Given the description of an element on the screen output the (x, y) to click on. 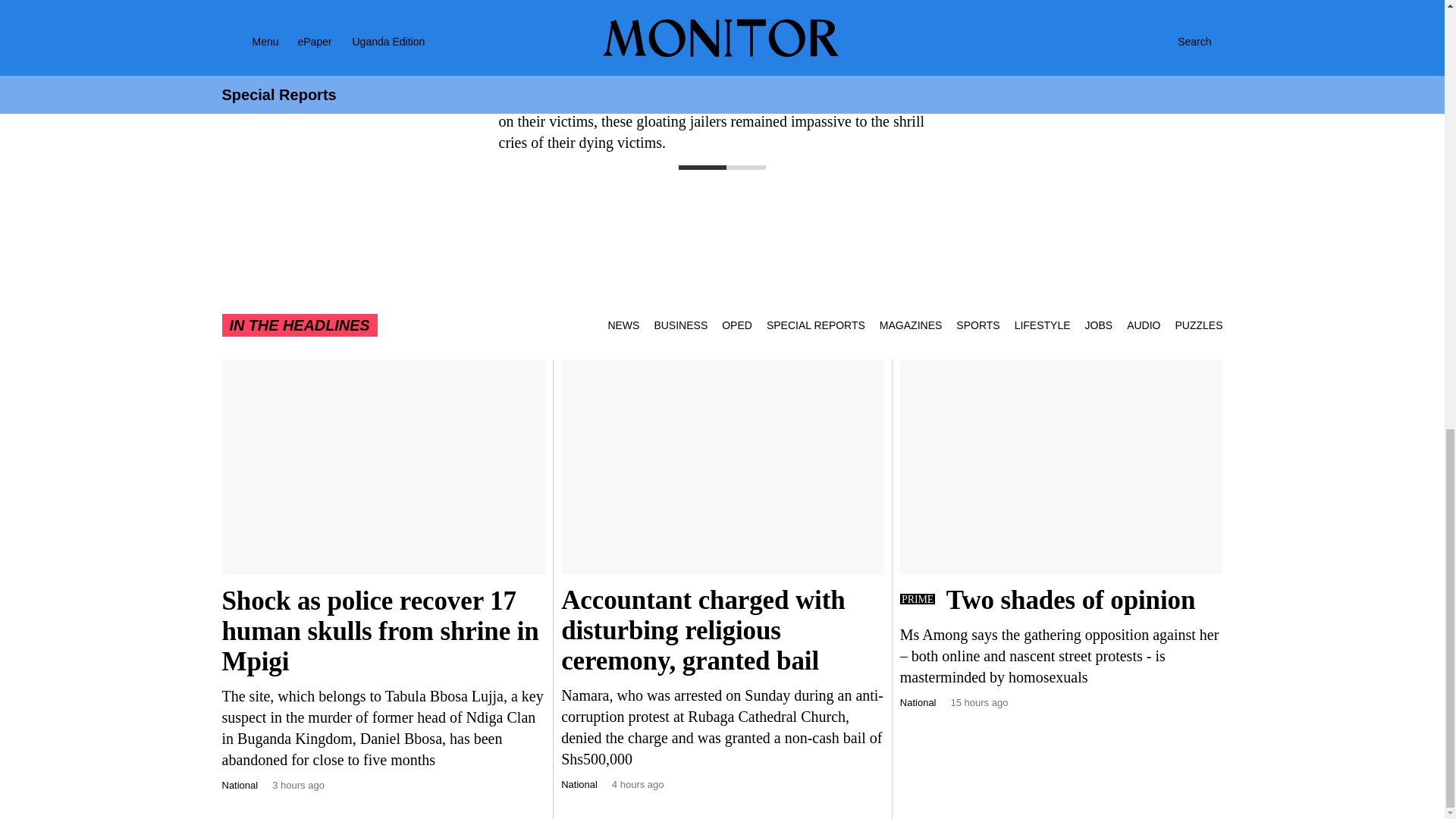
PRIME (916, 598)
